Given the description of an element on the screen output the (x, y) to click on. 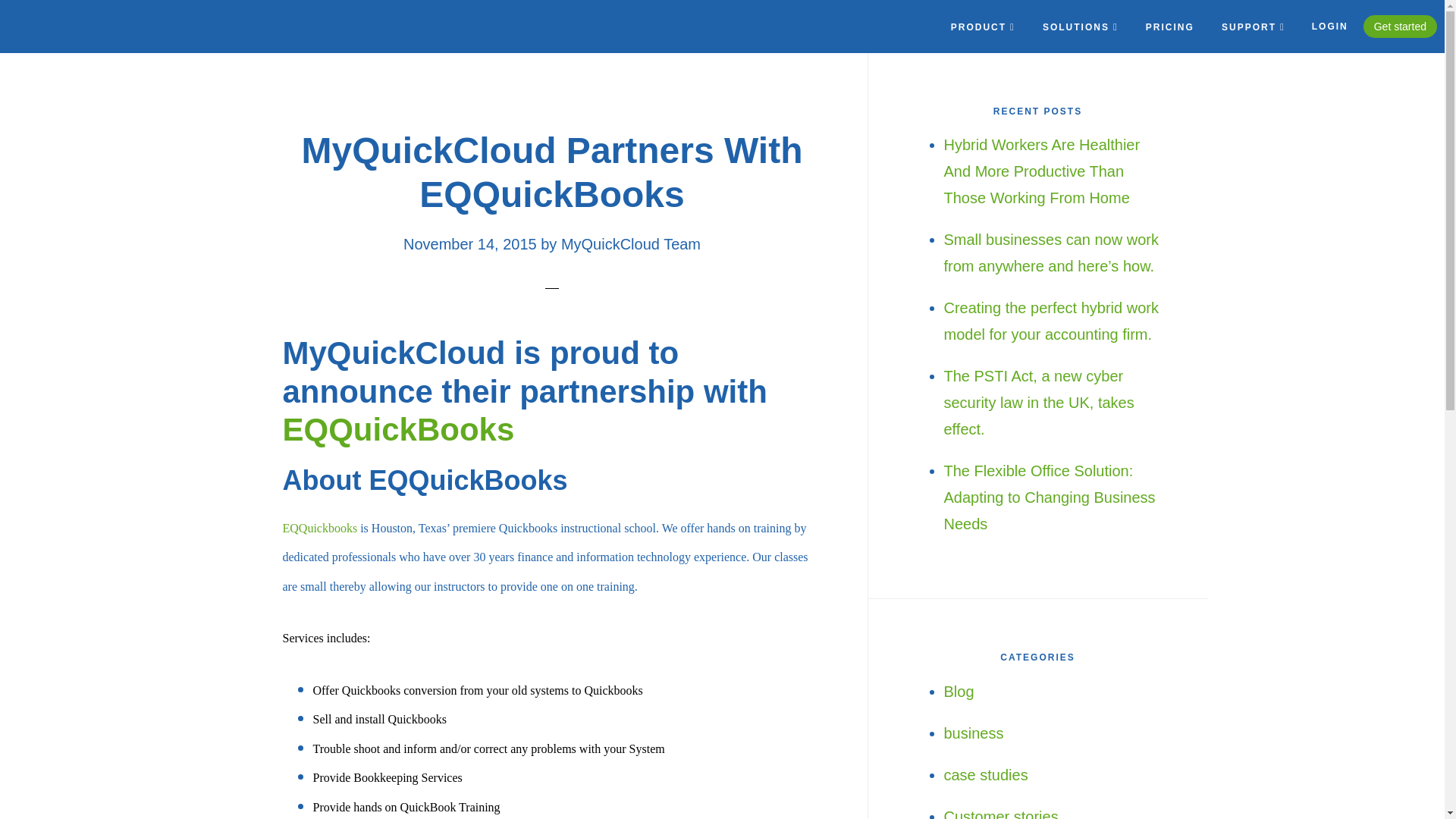
EQQuickbooks (319, 527)
SOLUTIONS (1079, 26)
Get started (1399, 26)
EQQuickBooks (397, 429)
PRODUCT (982, 26)
Blog (958, 691)
LOGIN (1329, 26)
SUPPORT (1253, 26)
case studies (985, 774)
business (973, 733)
PRICING (1169, 26)
